Given the description of an element on the screen output the (x, y) to click on. 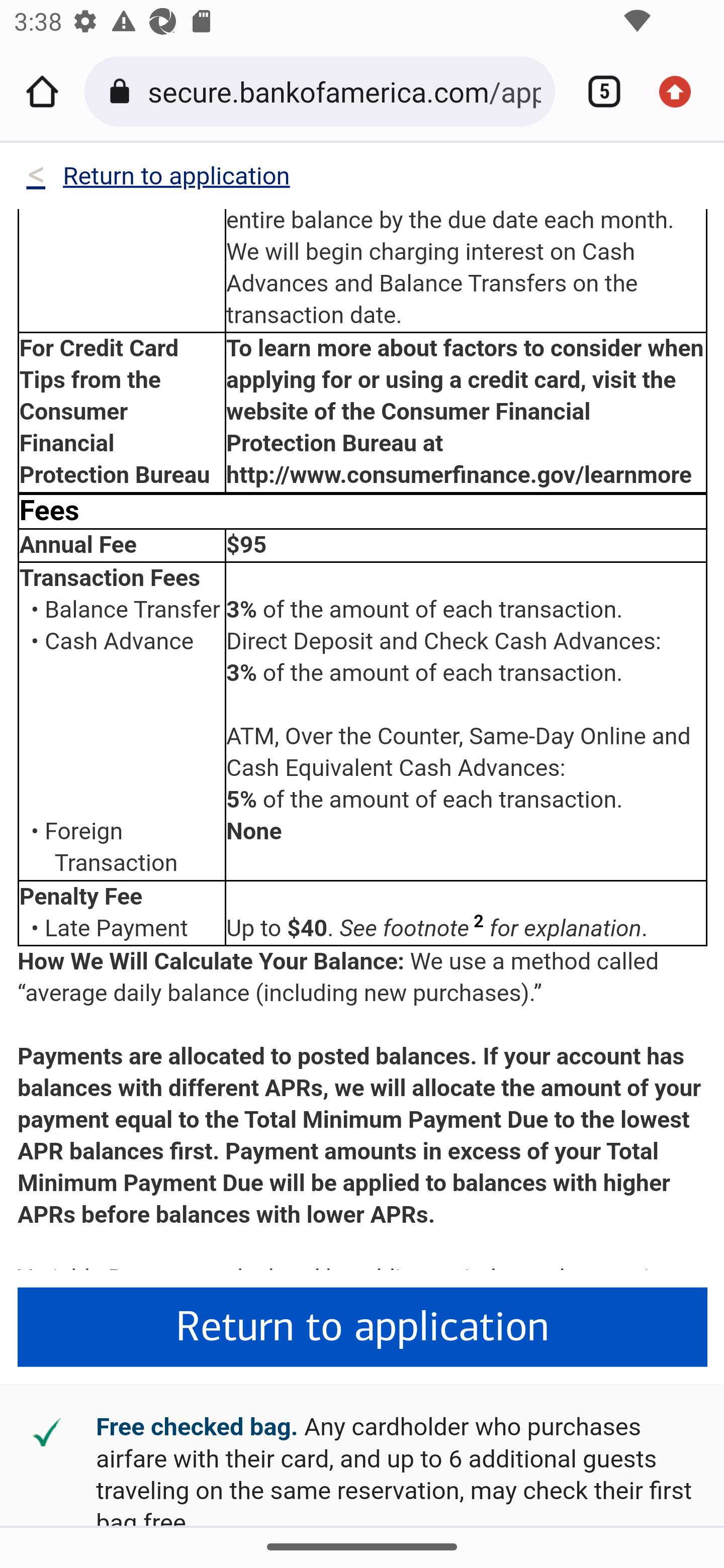
Home (42, 91)
Connection is secure (122, 91)
Switch or close tabs (597, 91)
Update available. More options (681, 91)
<Return to application < Return to application (157, 180)
Return to application (362, 1327)
